Given the description of an element on the screen output the (x, y) to click on. 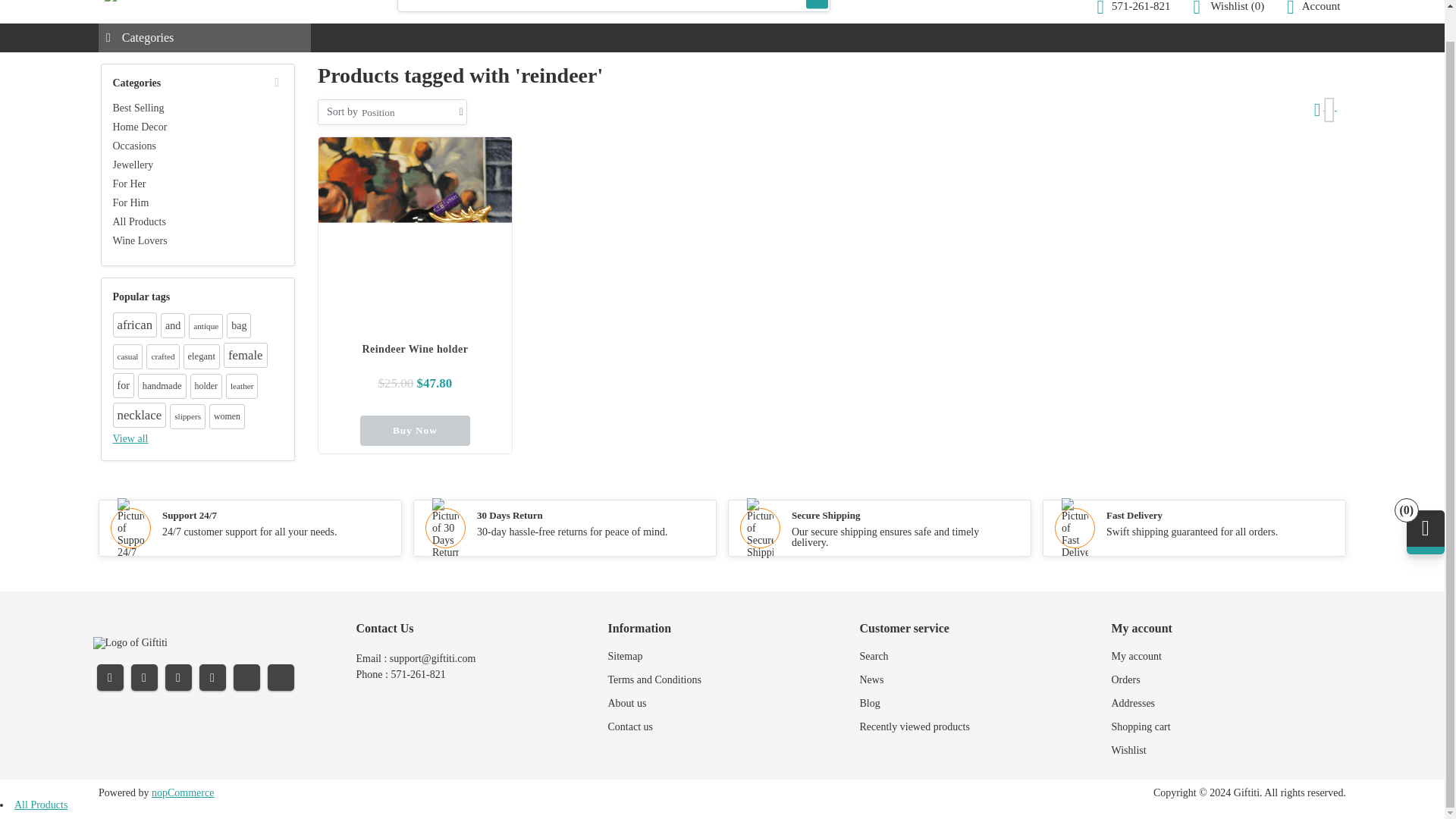
Show details for Reindeer Wine holder (419, 232)
Show details for Reindeer Wine holder (415, 234)
Search (817, 4)
Logo of Giftiti (130, 643)
Account (1313, 8)
Categories (205, 37)
571-261-821 (1133, 8)
